Given the description of an element on the screen output the (x, y) to click on. 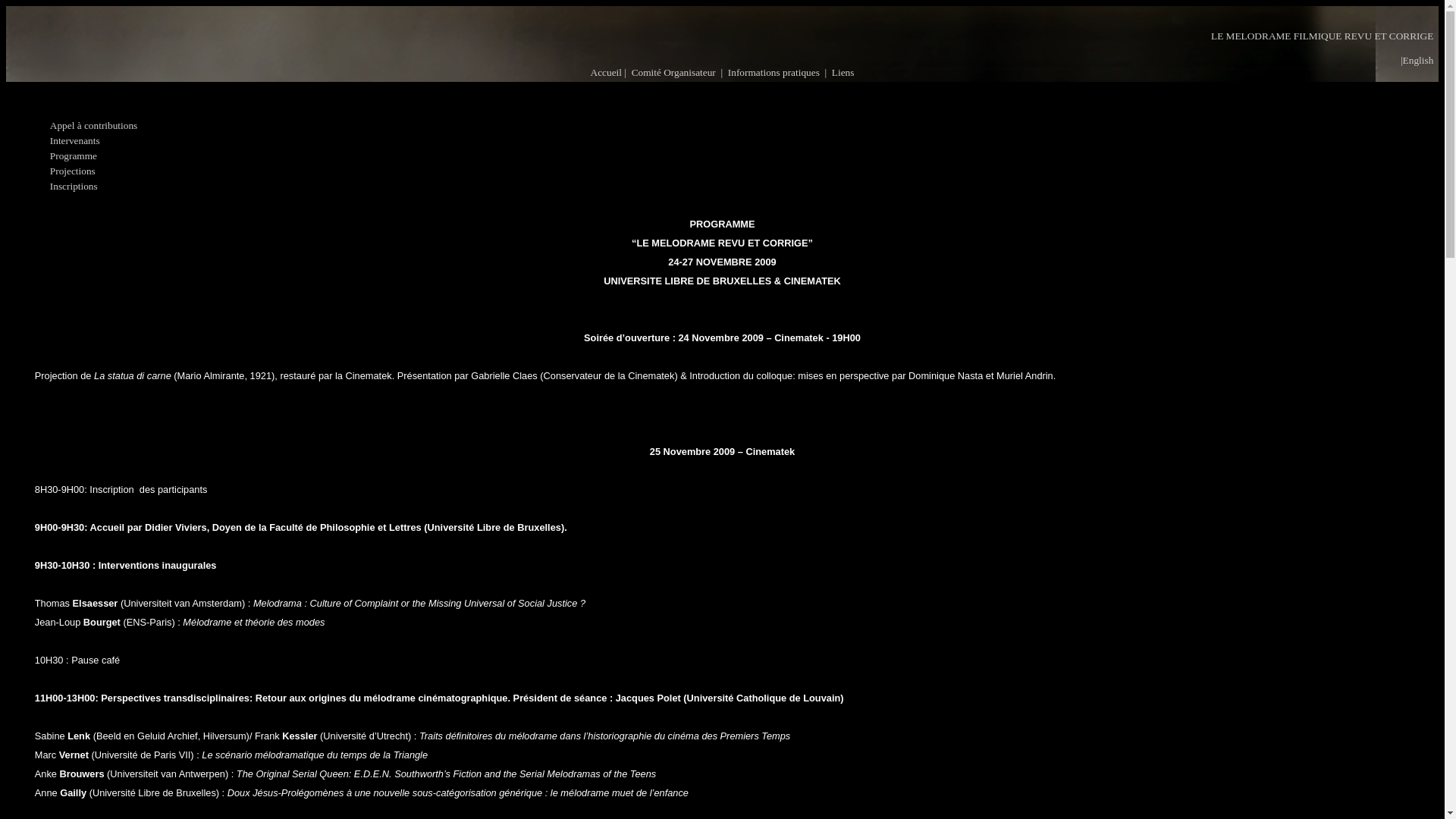
Informations pratiques Element type: text (773, 72)
Inscriptions Element type: text (73, 185)
Accueil Element type: text (605, 72)
English Element type: text (1418, 59)
Intervenants Element type: text (75, 140)
Projections Element type: text (72, 170)
